Given the description of an element on the screen output the (x, y) to click on. 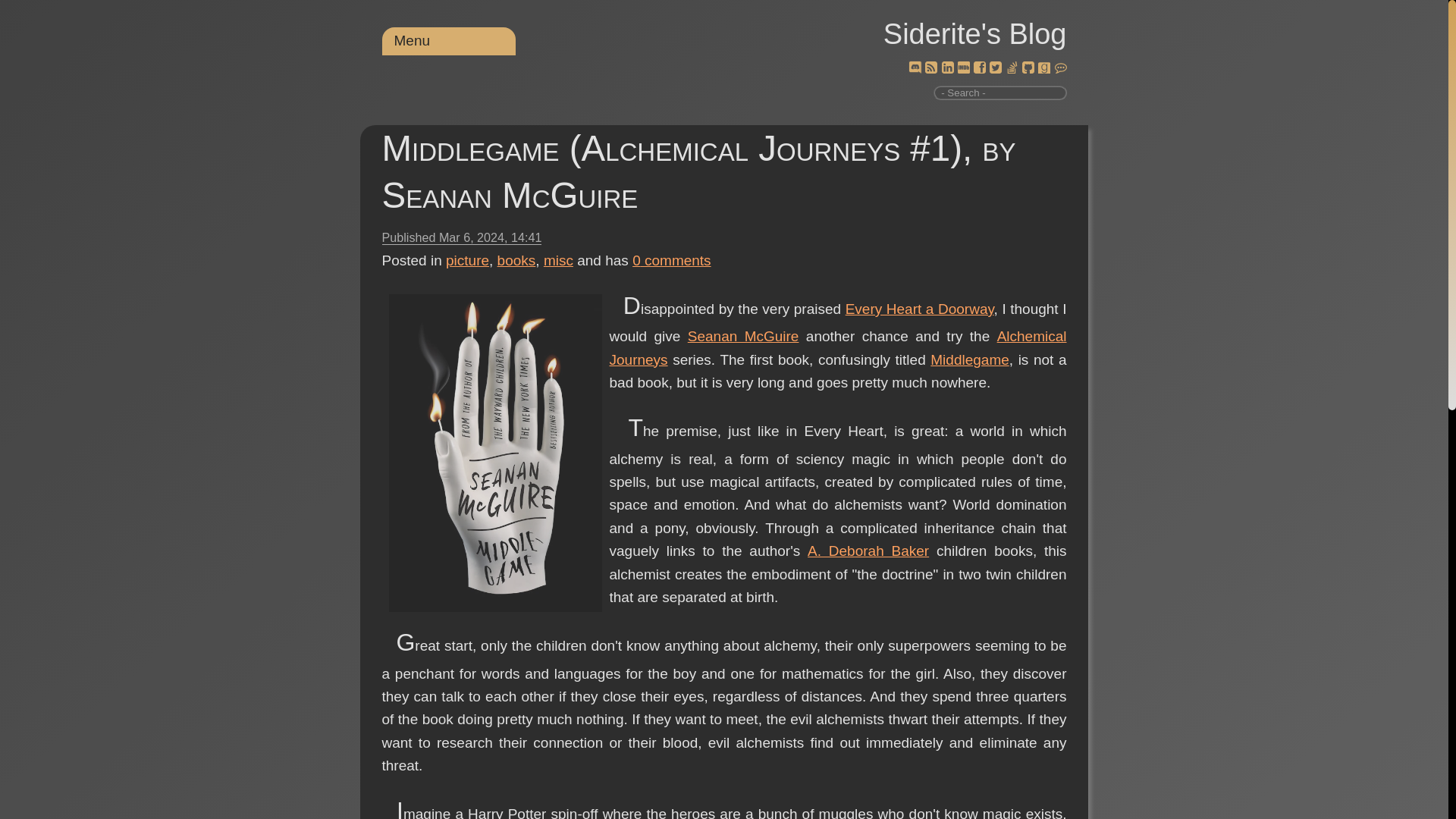
Siderite's Blog (975, 33)
Menu (412, 40)
Go to the comments section (671, 260)
Three so far (838, 347)
